Given the description of an element on the screen output the (x, y) to click on. 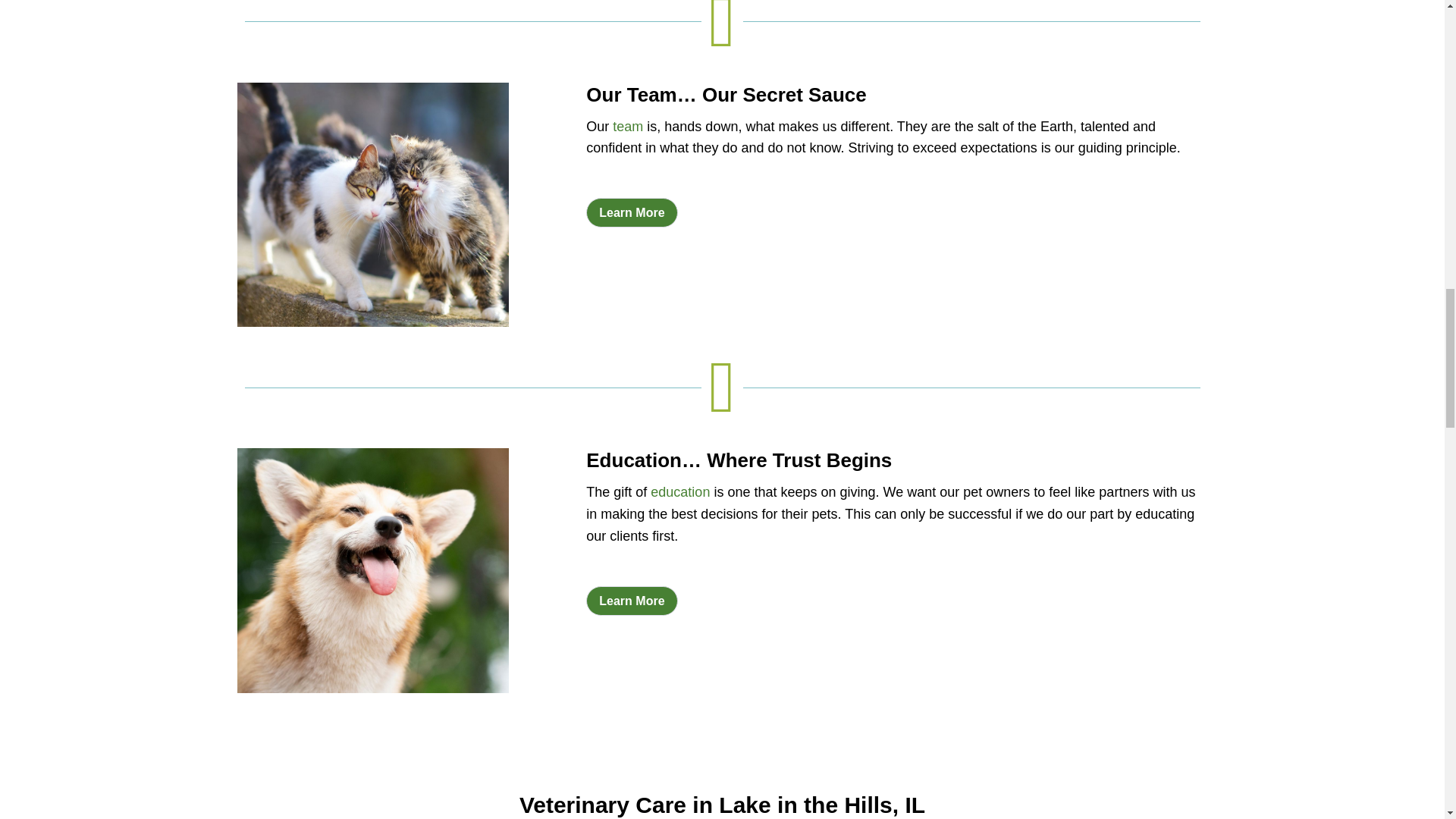
2 (371, 204)
Learn More (631, 212)
education (680, 491)
Learn More (631, 600)
team (627, 126)
4 (371, 569)
